Given the description of an element on the screen output the (x, y) to click on. 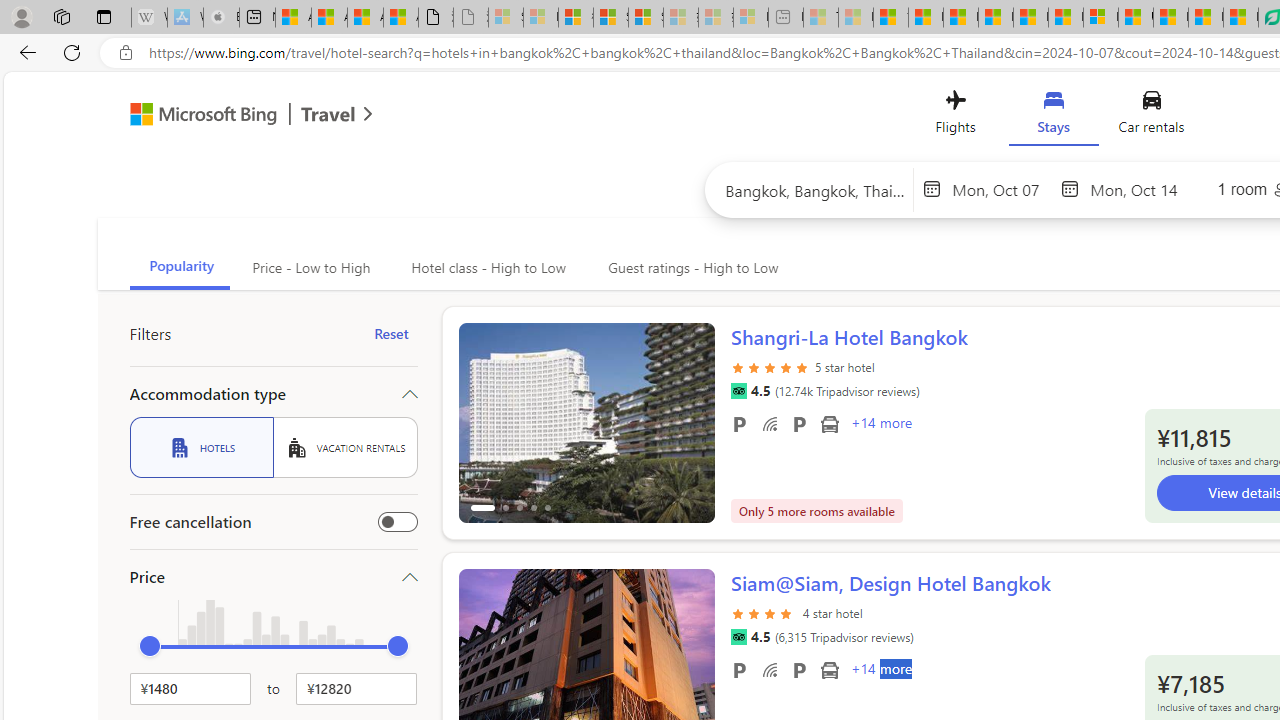
Food and Drink - MSN (925, 17)
ScrollLeft (482, 660)
Reset (391, 333)
Start Date (1001, 188)
Slide 1 (586, 434)
End date (1139, 188)
Airport transportation (829, 669)
Aberdeen, Hong Kong SAR weather forecast | Microsoft Weather (329, 17)
Drinking tea every day is proven to delay biological aging (995, 17)
Sign in to your Microsoft account - Sleeping (506, 17)
